Given the description of an element on the screen output the (x, y) to click on. 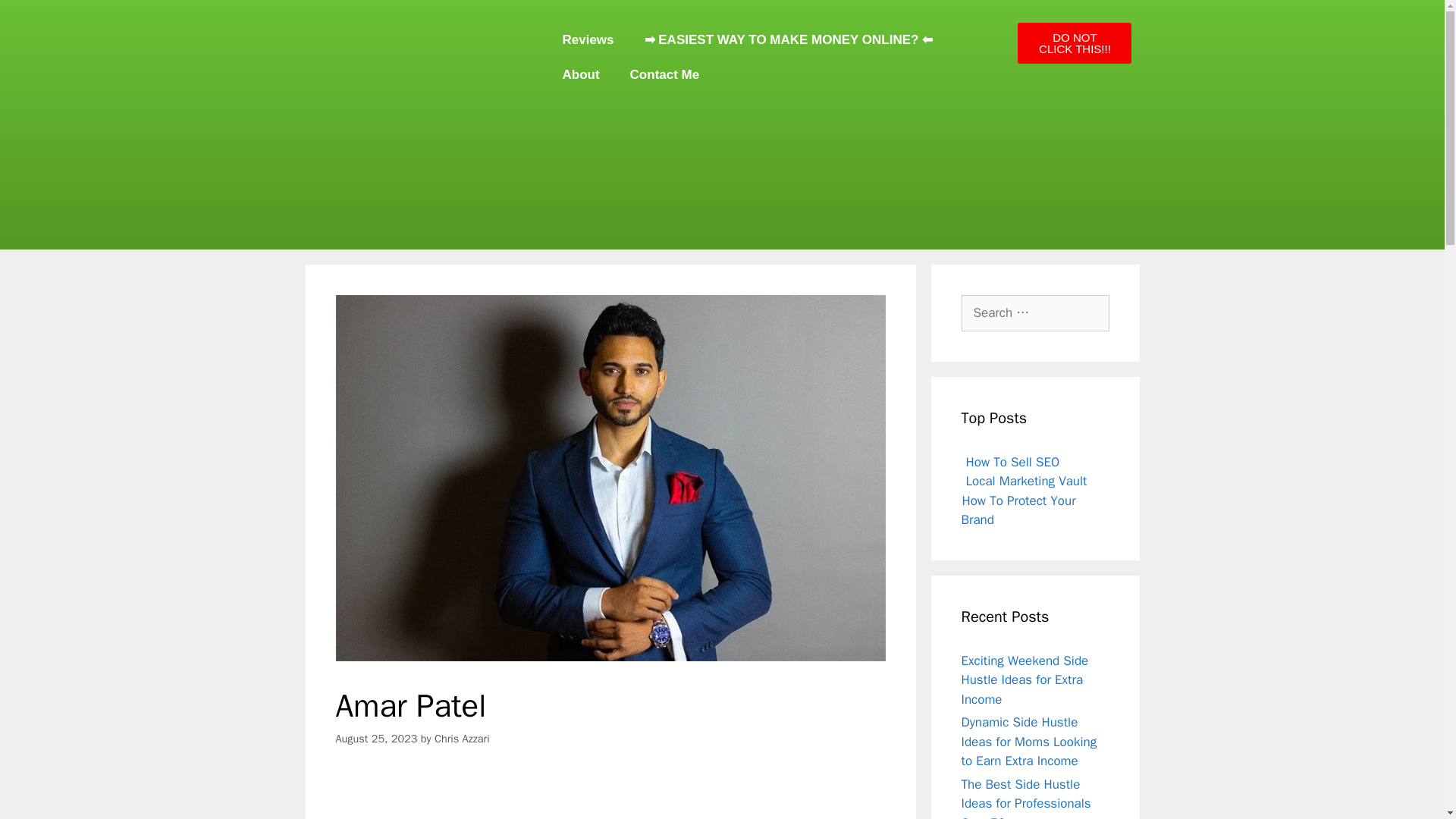
Search for: (1034, 312)
DO NOT CLICK THIS!!! (1074, 42)
View all posts by Chris Azzari (461, 738)
The Best Side Hustle Ideas for Professionals Over 50 (1025, 797)
how to sell SEO (1012, 461)
How To Sell SEO (1012, 461)
Search (35, 18)
Exciting Weekend Side Hustle Ideas for Extra Income (1024, 678)
Contact Me (664, 74)
